Given the description of an element on the screen output the (x, y) to click on. 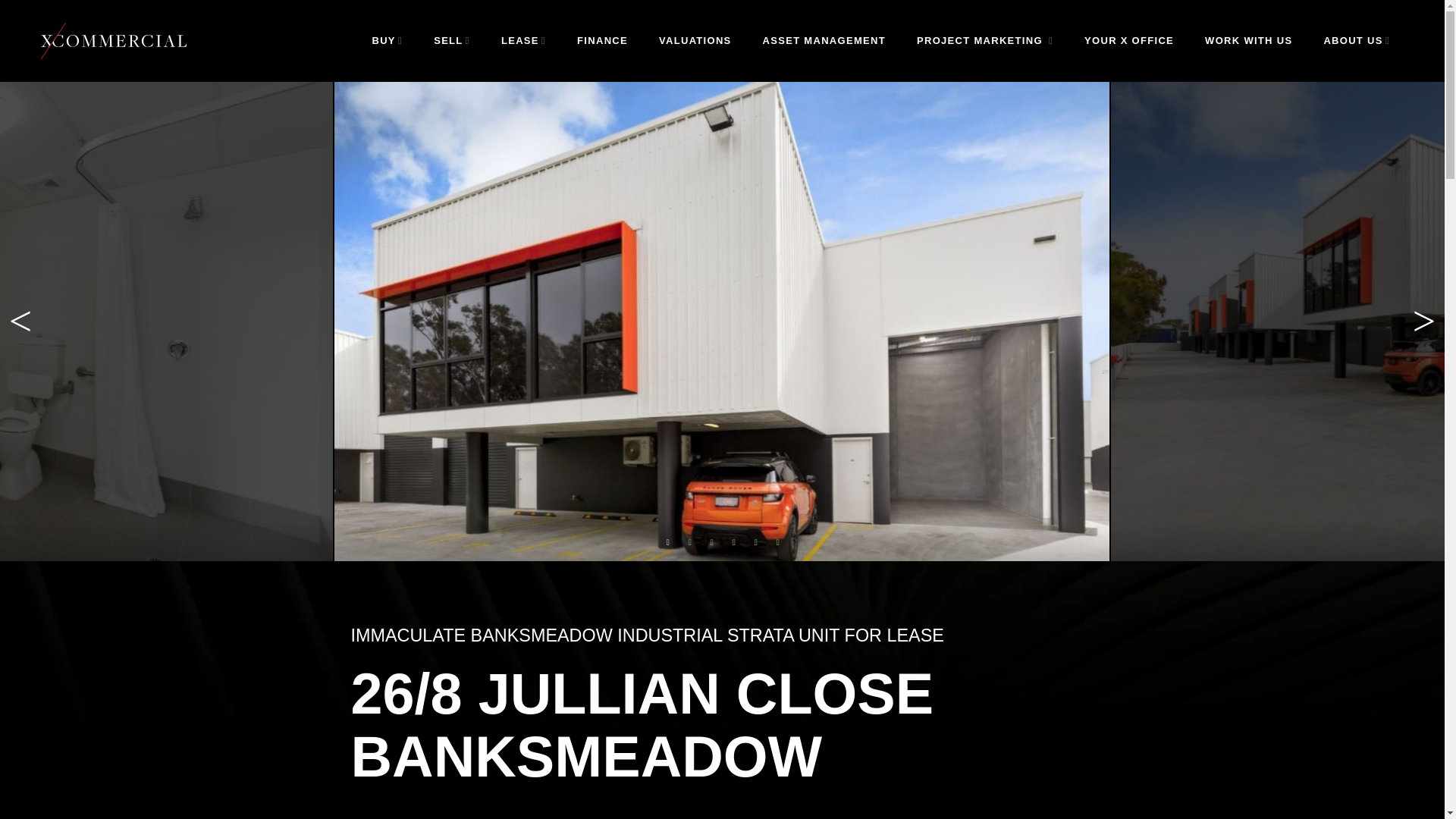
ABOUT US (1355, 40)
VALUATIONS (695, 40)
YOUR X OFFICE (1129, 40)
FINANCE (602, 40)
WORK WITH US (1248, 40)
Send Message (722, 369)
ASSET MANAGEMENT (824, 40)
PROJECT MARKETING (984, 40)
LEASE (523, 40)
SELL (451, 40)
BUY (387, 40)
